Given the description of an element on the screen output the (x, y) to click on. 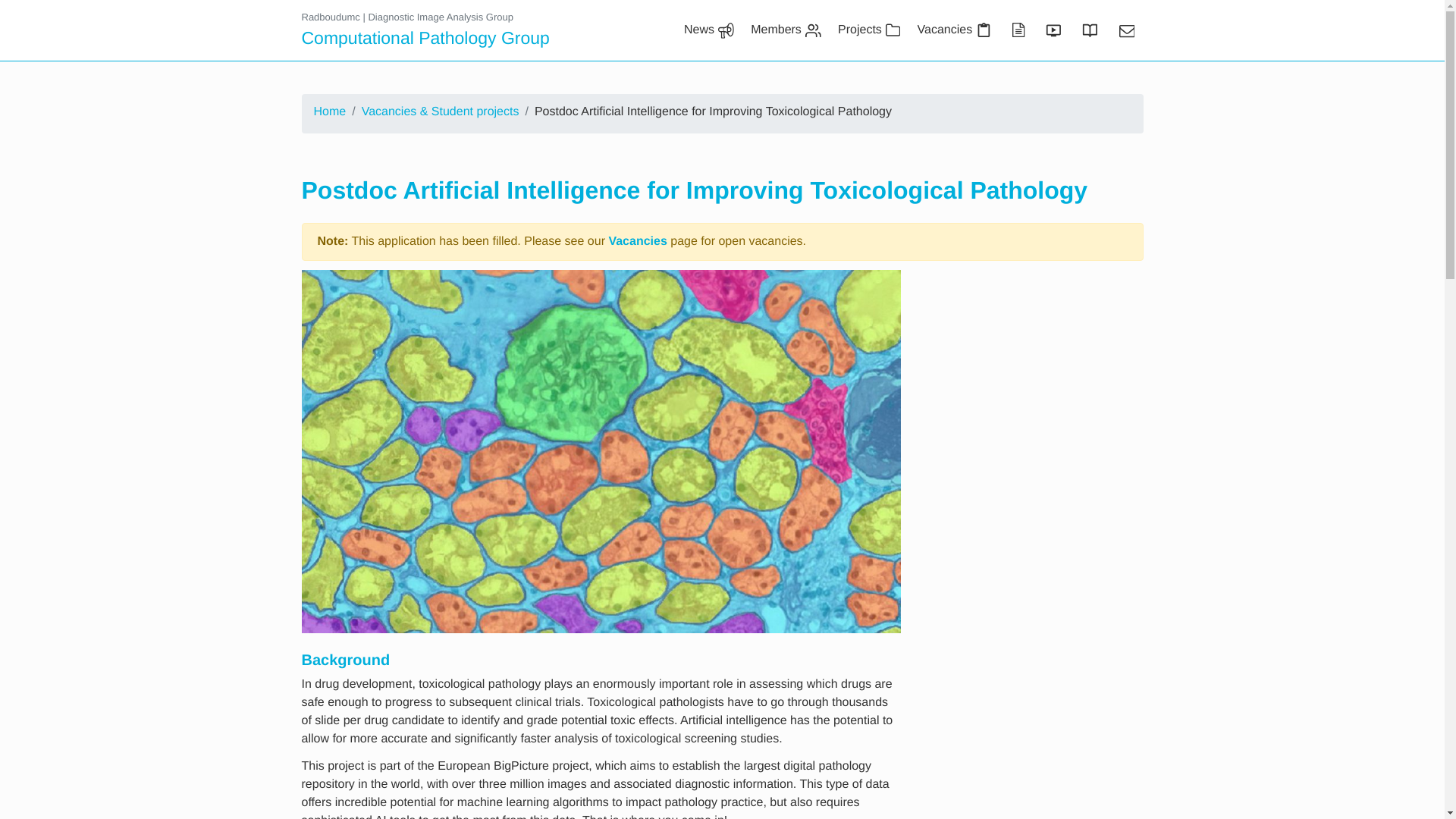
Publications (1016, 30)
Radboudumc (330, 16)
News (708, 30)
Vacancies (954, 30)
Home (330, 112)
Members (785, 30)
Presentations (1051, 30)
Diagnostic Image Analysis Group (440, 16)
Vacancies (637, 241)
Thesis Gallery (1088, 30)
